Given the description of an element on the screen output the (x, y) to click on. 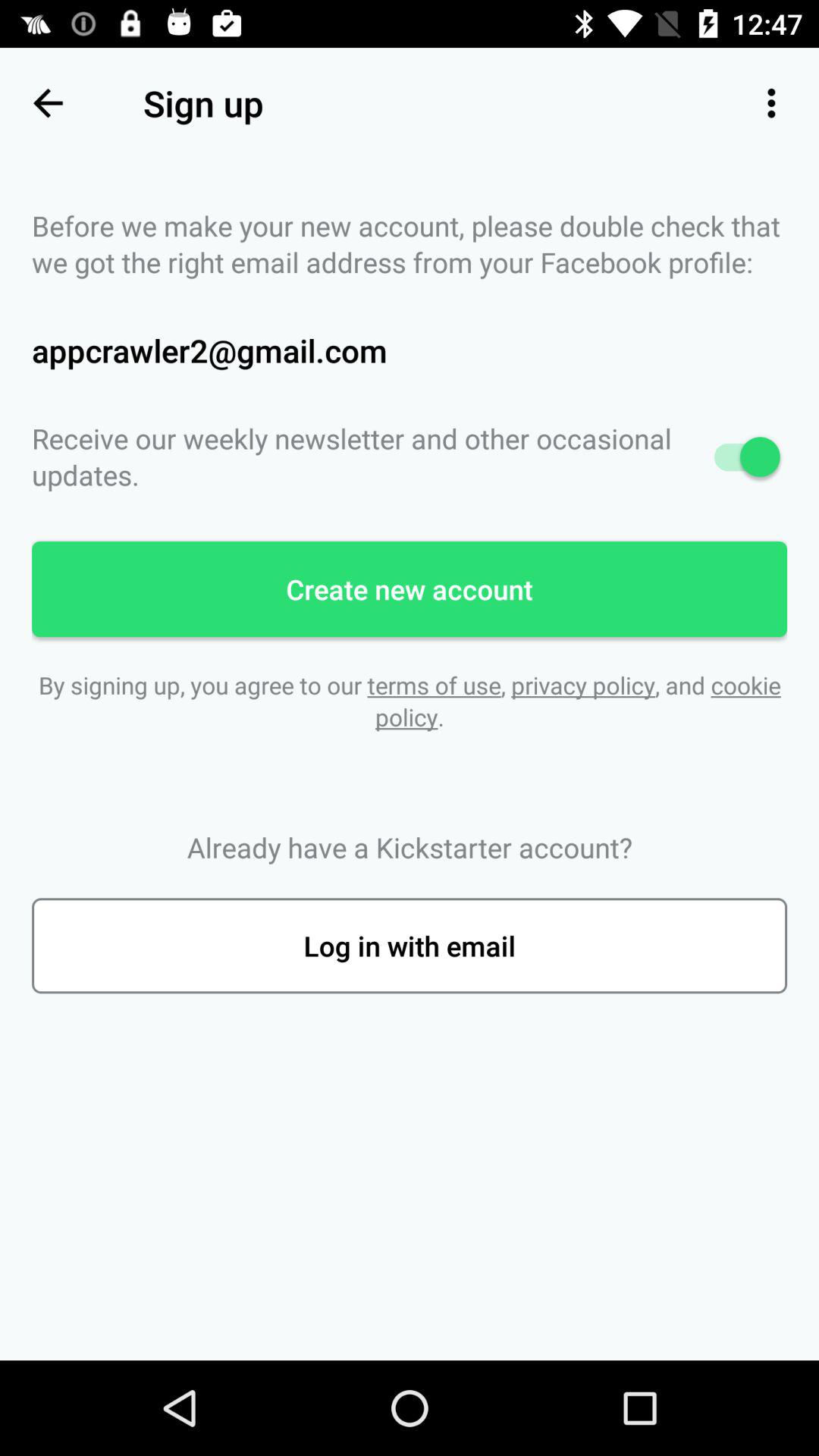
open item above the before we make item (47, 103)
